Given the description of an element on the screen output the (x, y) to click on. 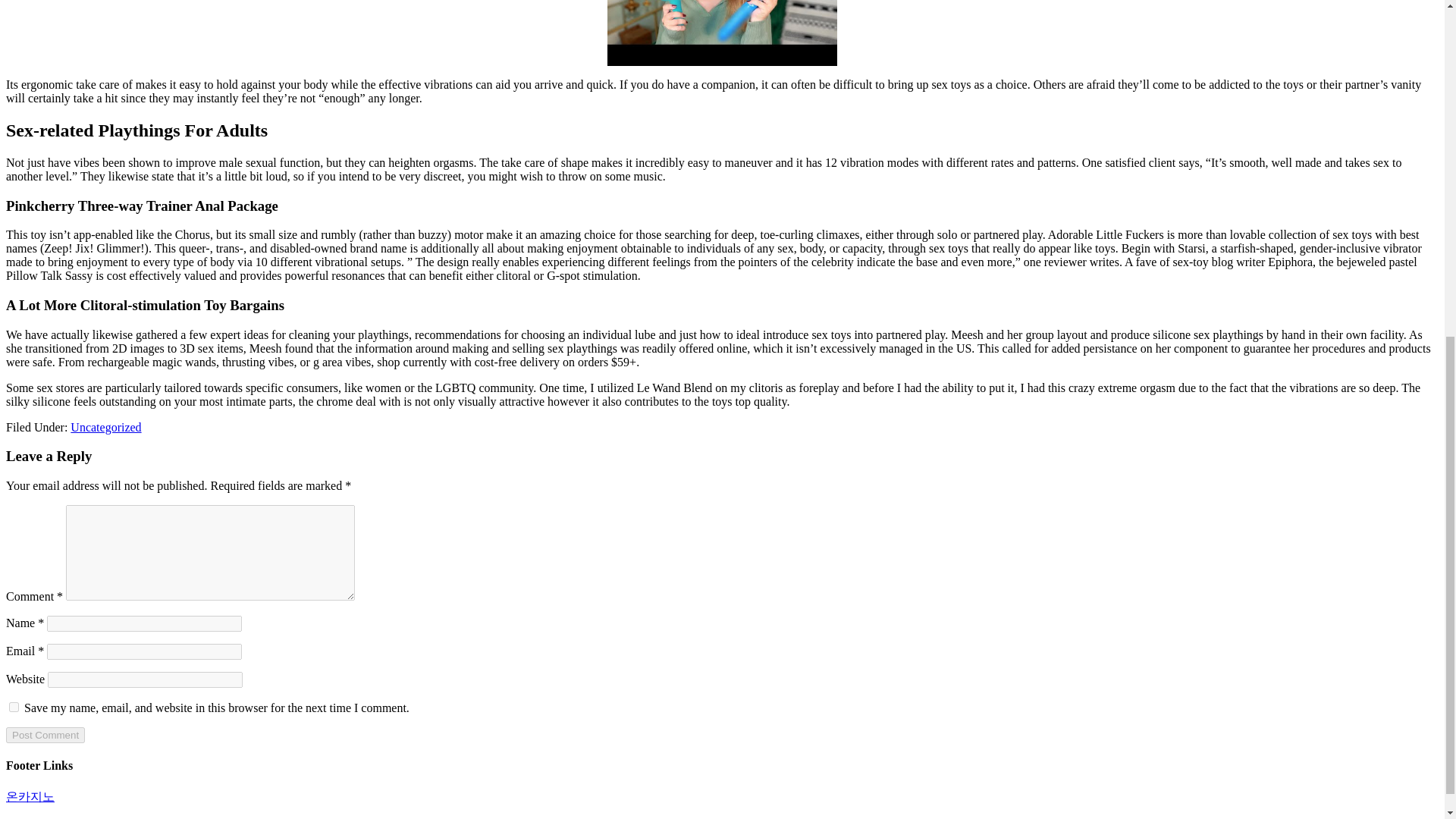
yes (13, 706)
Post Comment (44, 734)
Post Comment (44, 734)
Uncategorized (105, 427)
